Given the description of an element on the screen output the (x, y) to click on. 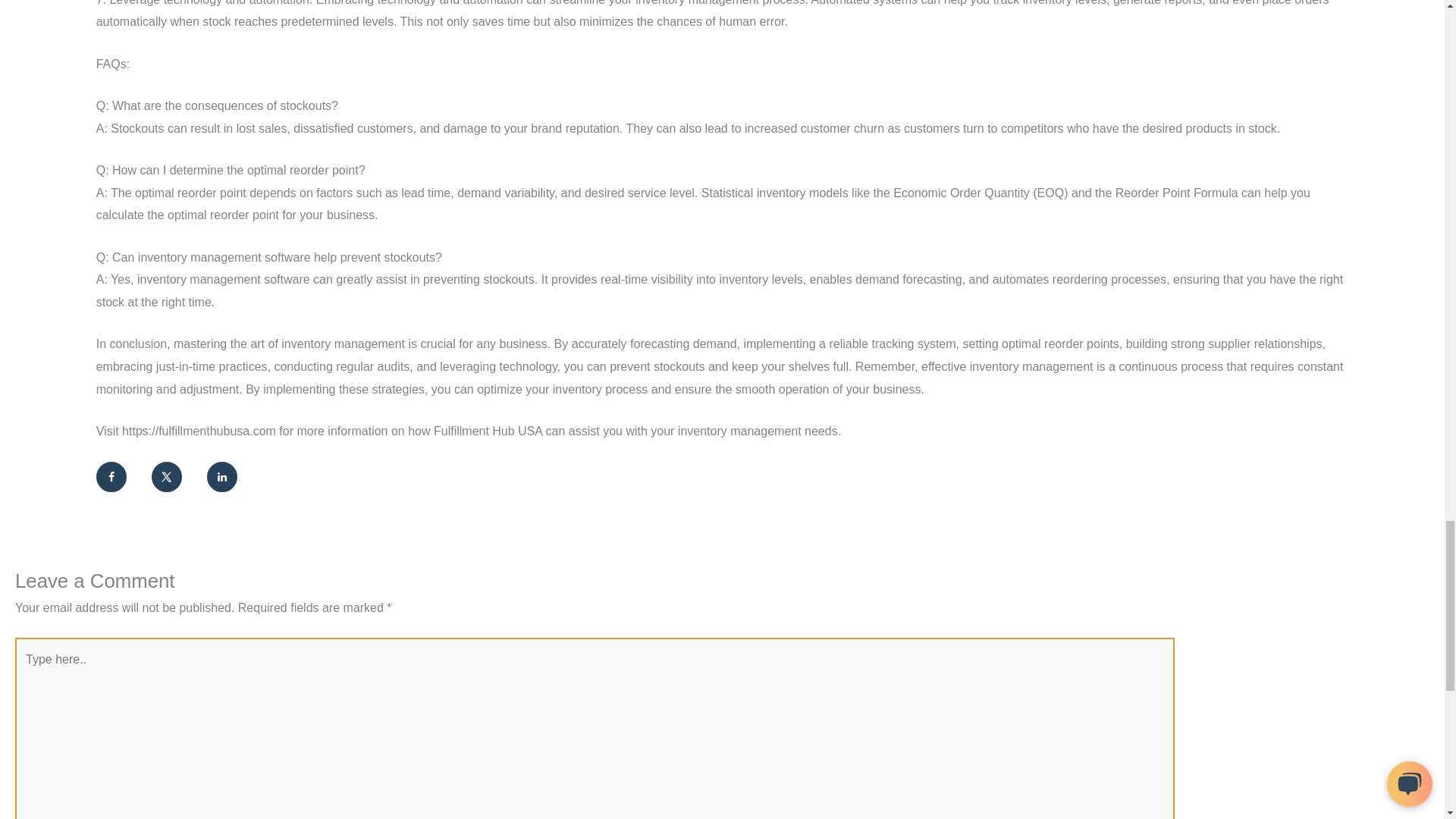
Share on Facebook (111, 476)
Share on X (166, 476)
Share on LinkedIn (221, 476)
